Given the description of an element on the screen output the (x, y) to click on. 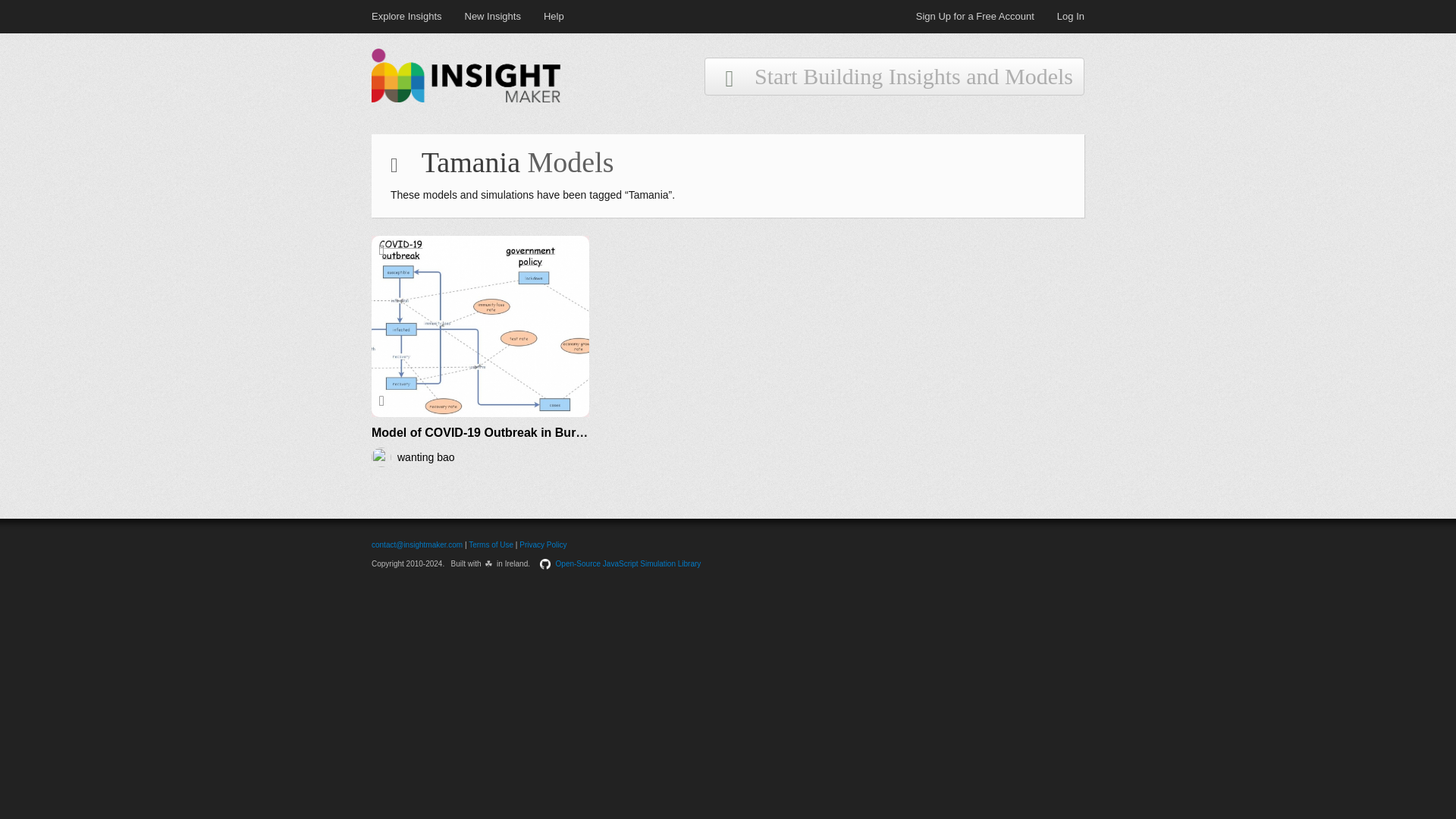
New Insights (503, 16)
Insight Maker (465, 99)
Open-Source JavaScript Simulation Library (628, 563)
wanting bao (425, 457)
Terms of Use (490, 544)
  Start Building Insights and Models (894, 80)
Privacy Policy (542, 544)
Sign Up for a Free Account (986, 16)
Explore Insights (417, 16)
  Start Building Insights and Models (894, 76)
Authored by wanting bao (480, 456)
Help (553, 16)
Log In (1070, 16)
